Given the description of an element on the screen output the (x, y) to click on. 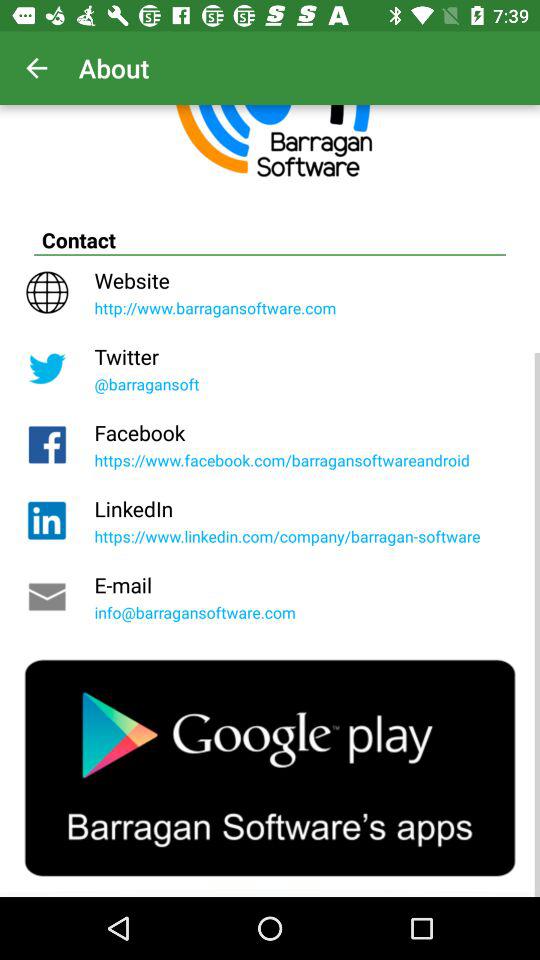
launch app to the left of the about icon (36, 68)
